Given the description of an element on the screen output the (x, y) to click on. 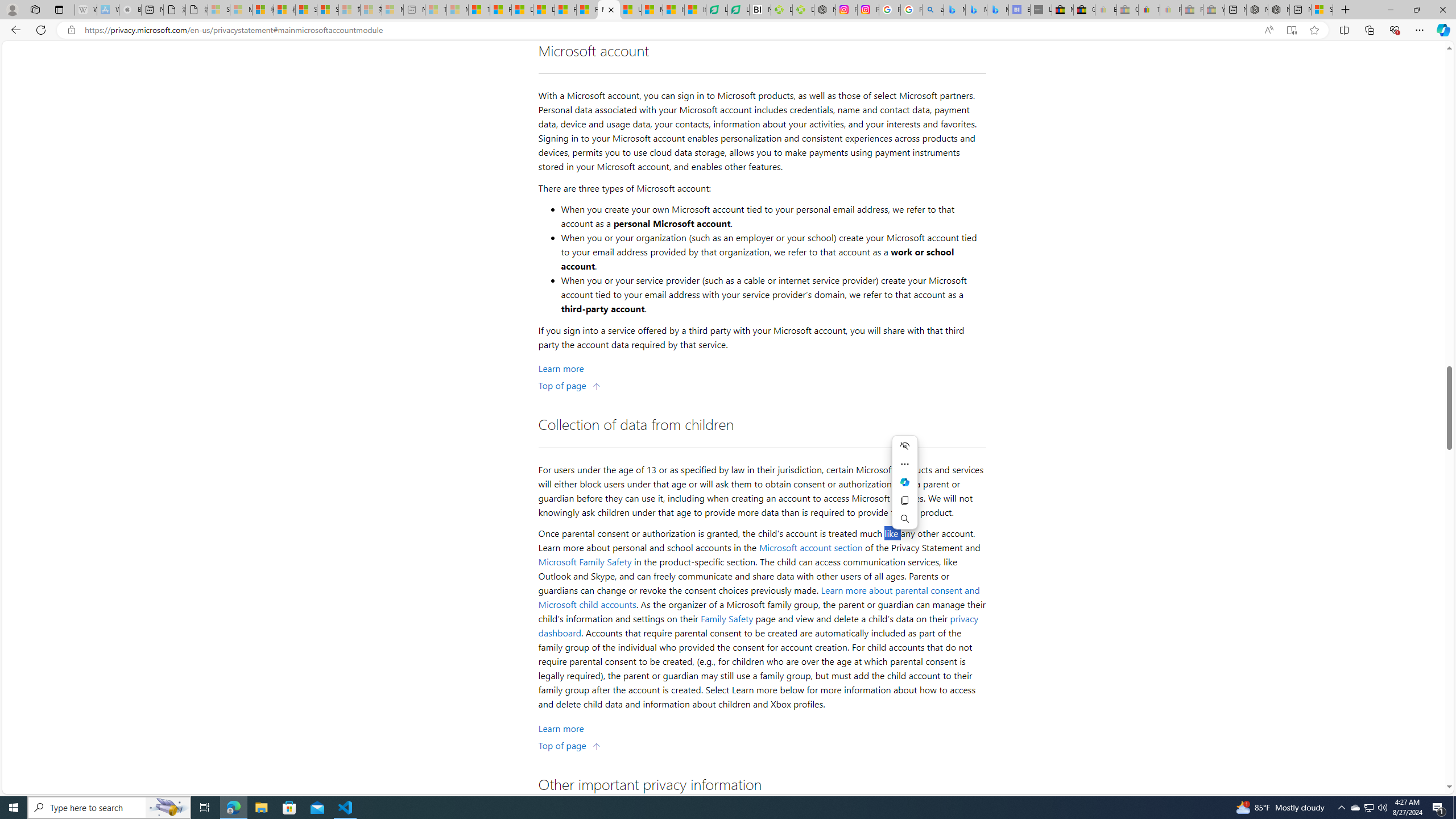
Threats and offensive language policy | eBay (1149, 9)
Food and Drink - MSN (500, 9)
Mini menu on text selection (904, 482)
Family Safety (727, 618)
alabama high school quarterback dies - Search (933, 9)
Microsoft Bing Travel - Flights from Hong Kong to Bangkok (954, 9)
Marine life - MSN - Sleeping (457, 9)
